Given the description of an element on the screen output the (x, y) to click on. 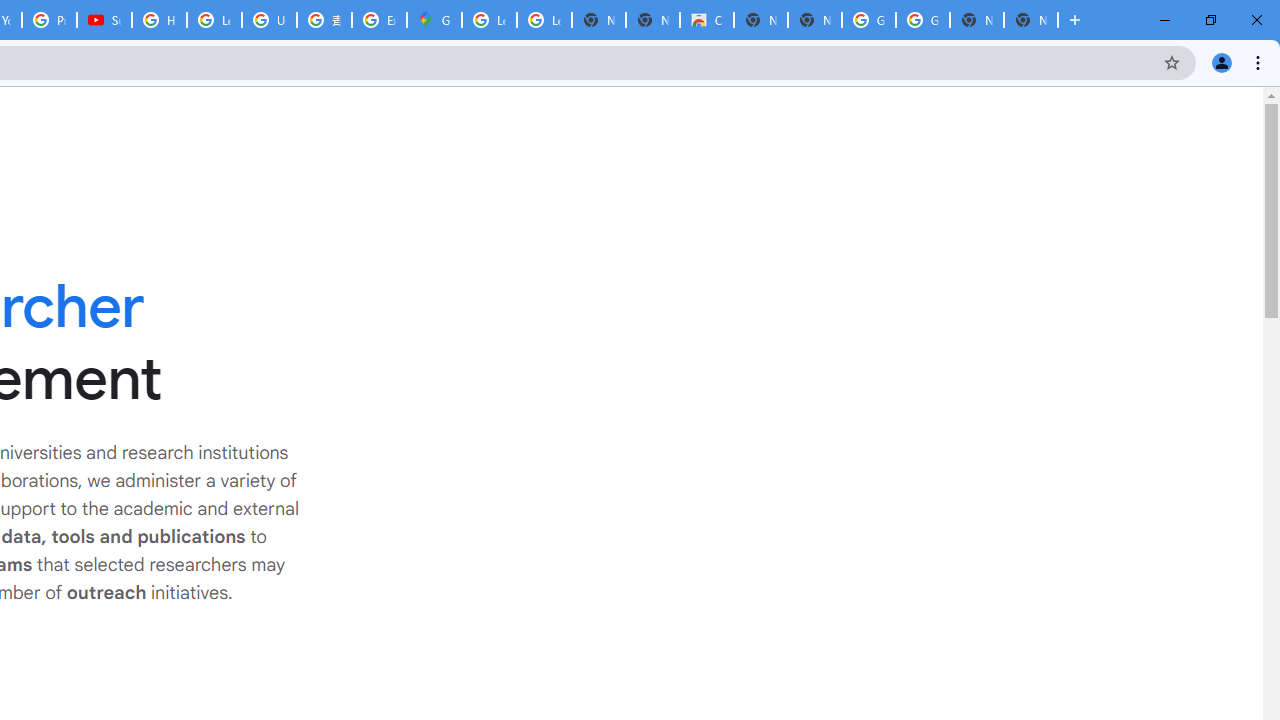
Explore new street-level details - Google Maps Help (379, 20)
Chrome Web Store (706, 20)
New Tab (1030, 20)
Google Maps (434, 20)
Google Images (922, 20)
How Chrome protects your passwords - Google Chrome Help (158, 20)
Google Images (868, 20)
